Given the description of an element on the screen output the (x, y) to click on. 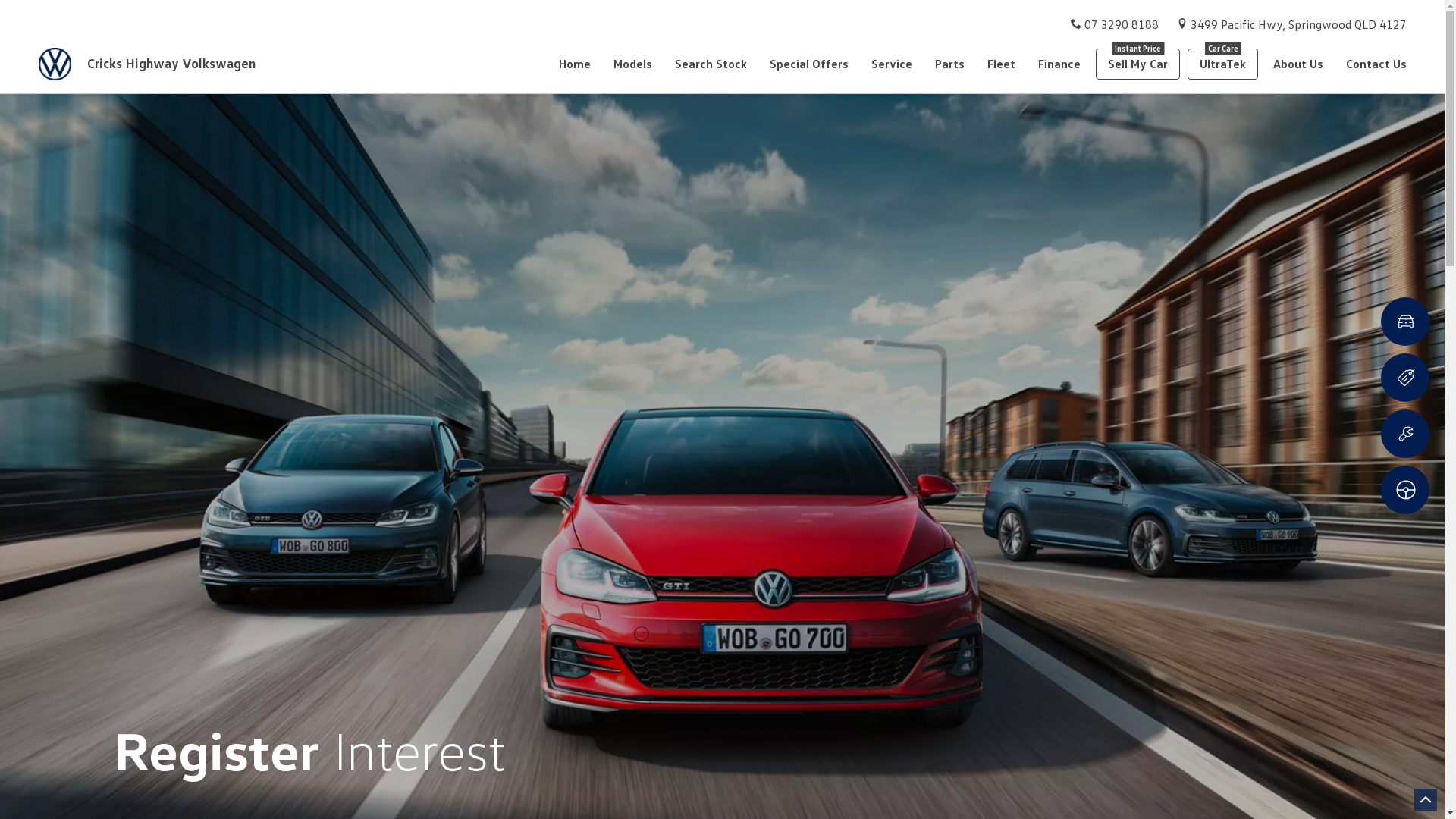
07 3290 8188 Element type: text (1121, 23)
About Us Element type: text (1297, 63)
Cricks Highway Volkswagen Element type: text (153, 64)
UltraTek Element type: text (1222, 63)
Parts Element type: text (949, 63)
Home Element type: text (580, 63)
Service Element type: text (891, 63)
Contact Us Element type: text (1370, 63)
Special Offers Element type: text (808, 63)
Search Stock Element type: text (710, 63)
Sell My Car Element type: text (1137, 63)
Fleet Element type: text (1000, 63)
Finance Element type: text (1059, 63)
Models Element type: text (632, 63)
3499 Pacific Hwy, Springwood QLD 4127 Element type: text (1298, 23)
